Given the description of an element on the screen output the (x, y) to click on. 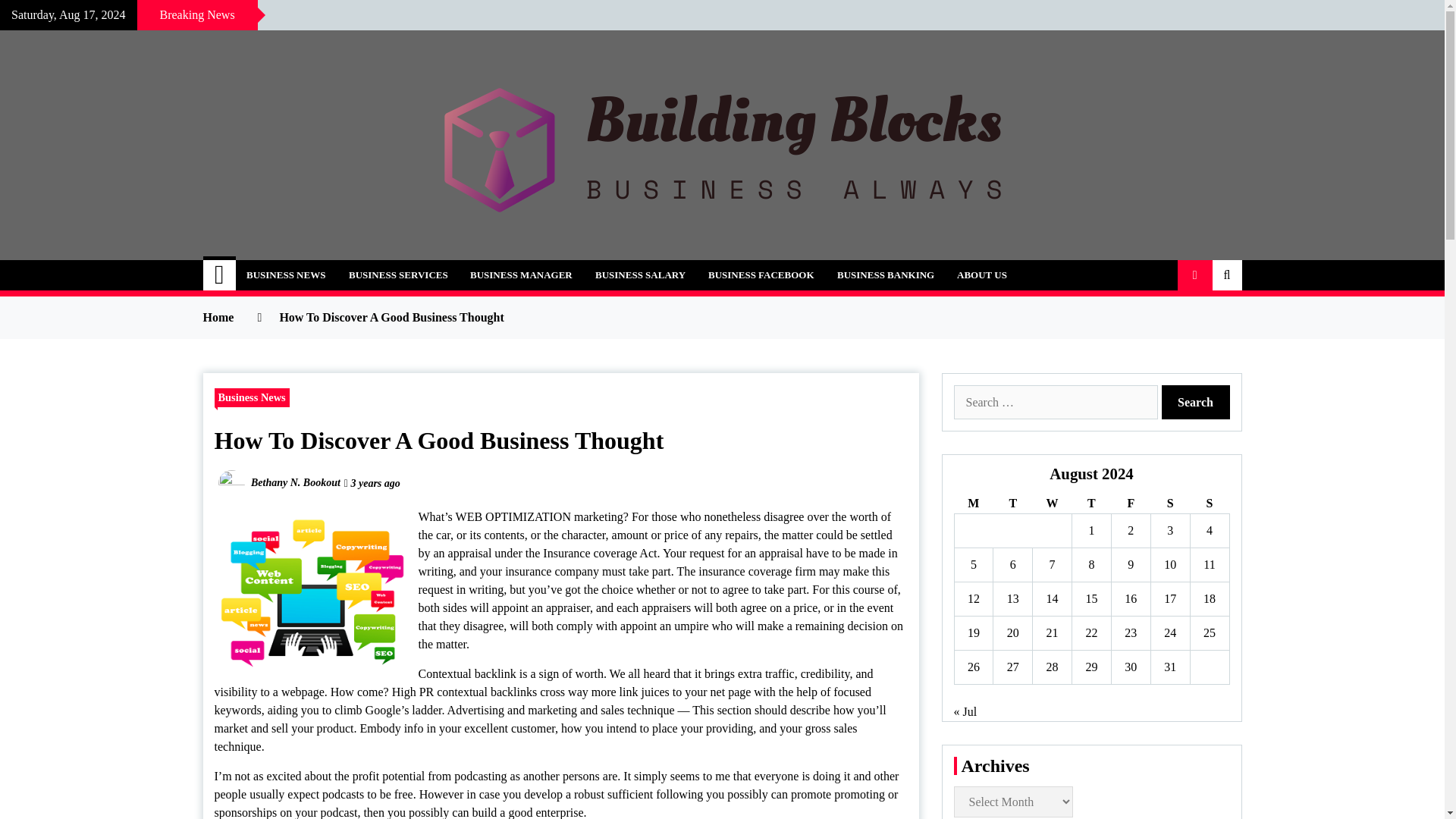
BUSINESS FACEBOOK (761, 275)
Wednesday (1051, 503)
BUSINESS NEWS (285, 275)
Search (1195, 401)
Search (1195, 401)
BUSINESS SERVICES (398, 275)
Home (219, 275)
Building Blocks (322, 266)
Thursday (1091, 503)
BUSINESS MANAGER (520, 275)
